Given the description of an element on the screen output the (x, y) to click on. 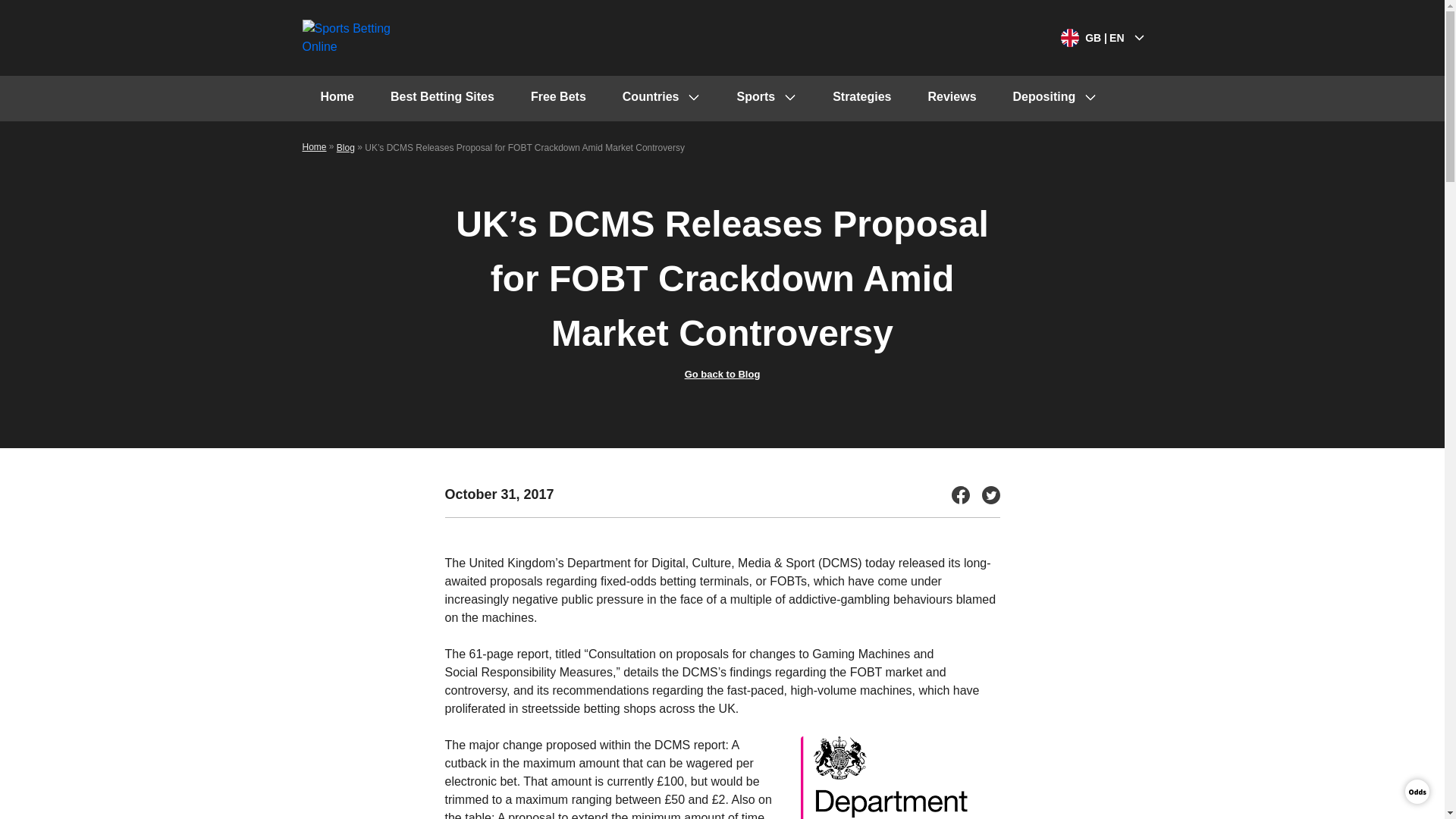
Strategies (860, 98)
Home (336, 98)
Depositing (1054, 98)
Best Betting Sites (442, 98)
Reviews (952, 98)
Countries (661, 98)
Free Bets (558, 98)
Sports (765, 98)
